Given the description of an element on the screen output the (x, y) to click on. 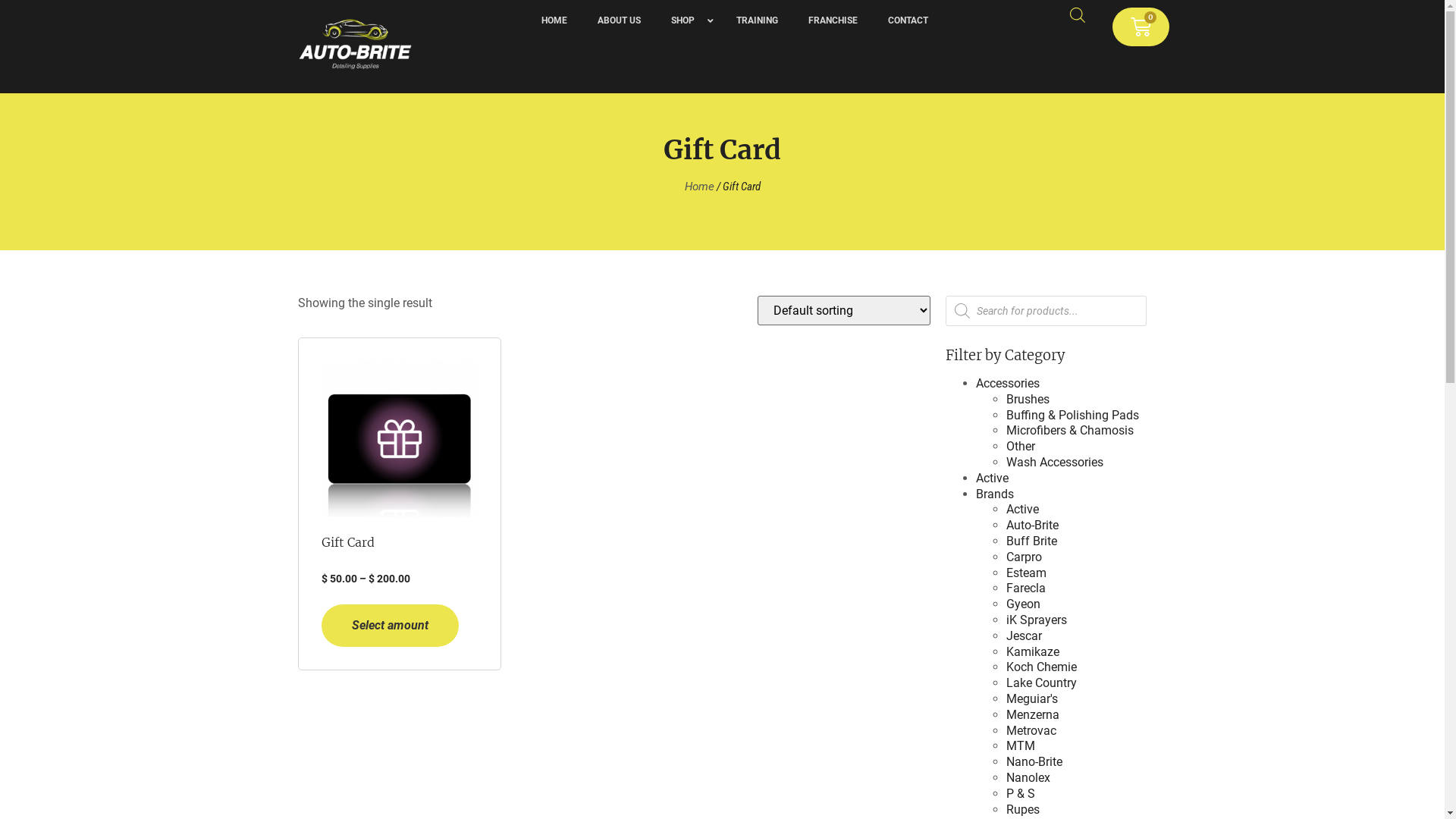
P & S Element type: text (1020, 793)
Meguiar's Element type: text (1031, 698)
Active Element type: text (1022, 509)
Wash Accessories Element type: text (1054, 462)
Buff Brite Element type: text (1031, 540)
HOME Element type: text (554, 20)
Carpro Element type: text (1023, 556)
ABOUT US Element type: text (618, 20)
Brushes Element type: text (1027, 399)
Esteam Element type: text (1026, 572)
Gyeon Element type: text (1023, 603)
0 Element type: text (1140, 26)
Home Element type: text (698, 186)
Accessories Element type: text (1007, 383)
Jescar Element type: text (1023, 635)
Select amount Element type: text (389, 625)
Nano-Brite Element type: text (1034, 761)
Auto-Brite Element type: text (1032, 524)
Brands Element type: text (994, 493)
iK Sprayers Element type: text (1036, 619)
Buffing & Polishing Pads Element type: text (1072, 414)
Other Element type: text (1020, 446)
Lake Country Element type: text (1041, 682)
Kamikaze Element type: text (1032, 651)
Active Element type: text (991, 477)
Microfibers & Chamosis Element type: text (1069, 430)
SHOP Element type: text (688, 20)
Koch Chemie Element type: text (1041, 666)
Nanolex Element type: text (1028, 777)
FRANCHISE Element type: text (832, 20)
Menzerna Element type: text (1032, 714)
Farecla Element type: text (1025, 587)
Rupes Element type: text (1022, 809)
MTM Element type: text (1020, 745)
Metrovac Element type: text (1031, 730)
TRAINING Element type: text (757, 20)
CONTACT Element type: text (907, 20)
